Given the description of an element on the screen output the (x, y) to click on. 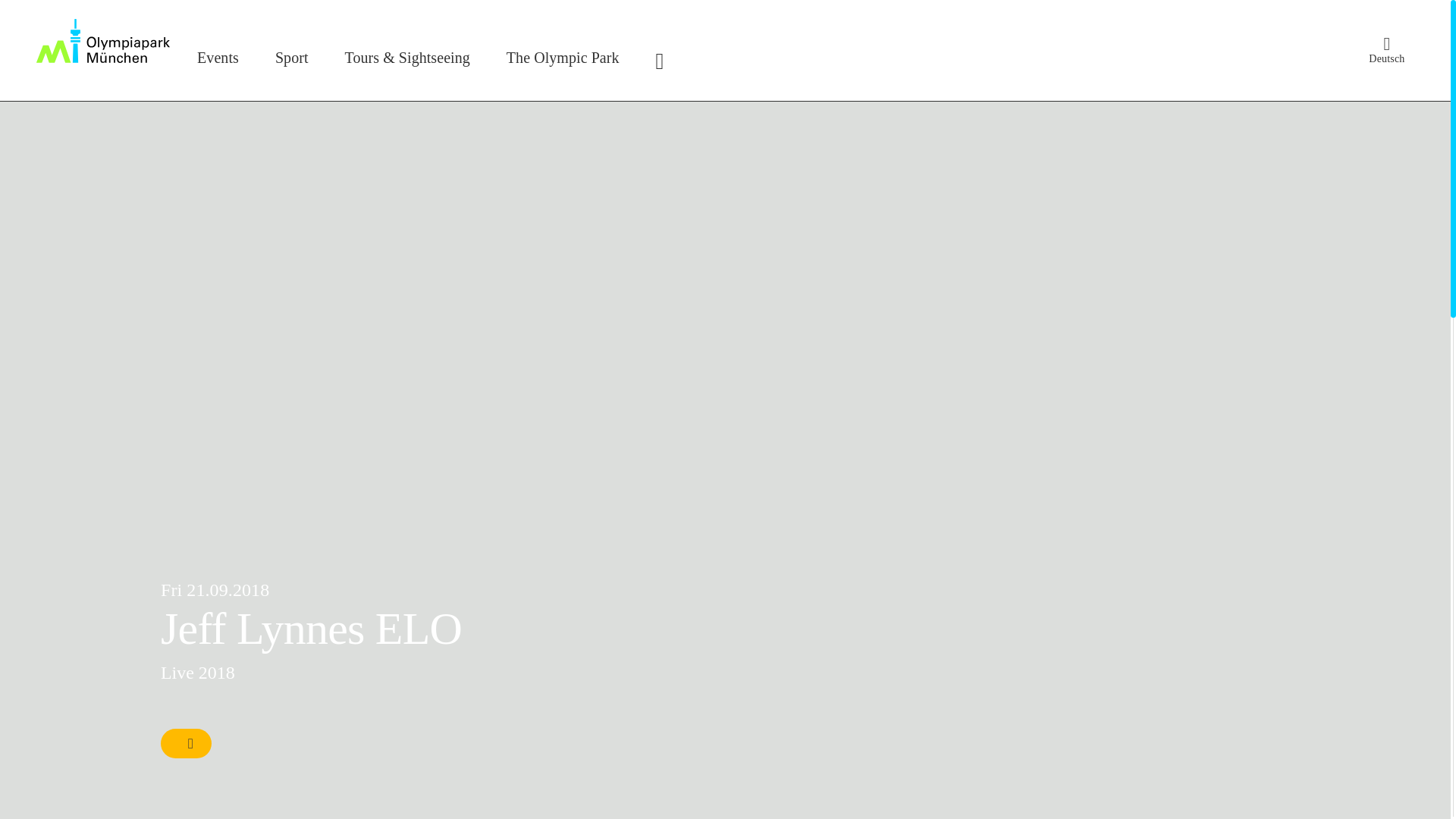
Events (218, 57)
Sport (292, 57)
